Given the description of an element on the screen output the (x, y) to click on. 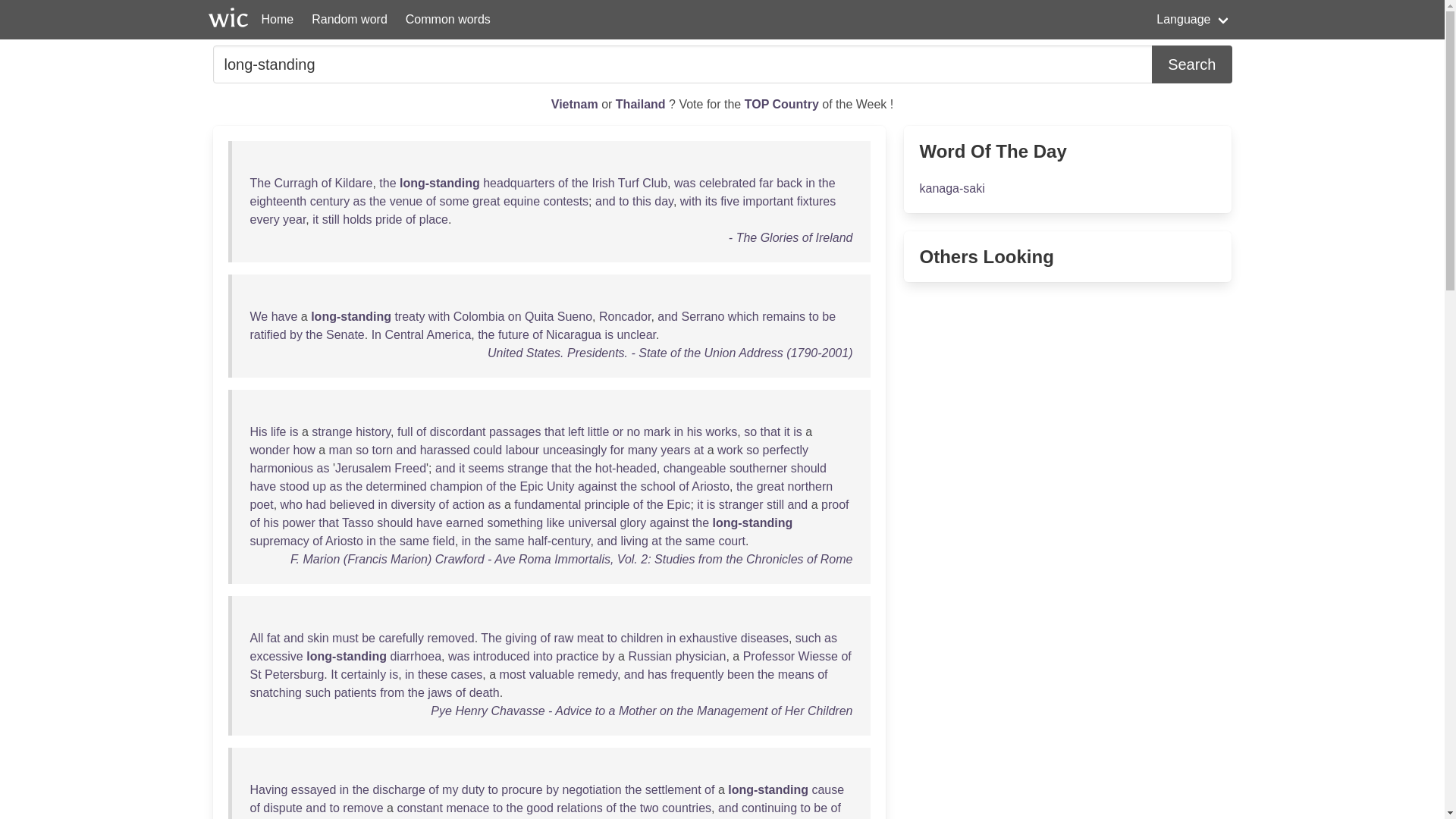
Home (276, 19)
the (580, 182)
was (684, 182)
Click to find the word in context (260, 182)
Vietnam (576, 103)
Click to find the word in context (628, 182)
Click to find the word in context (518, 182)
The (260, 182)
Click to find the word in context (353, 182)
long-standing (682, 64)
